Given the description of an element on the screen output the (x, y) to click on. 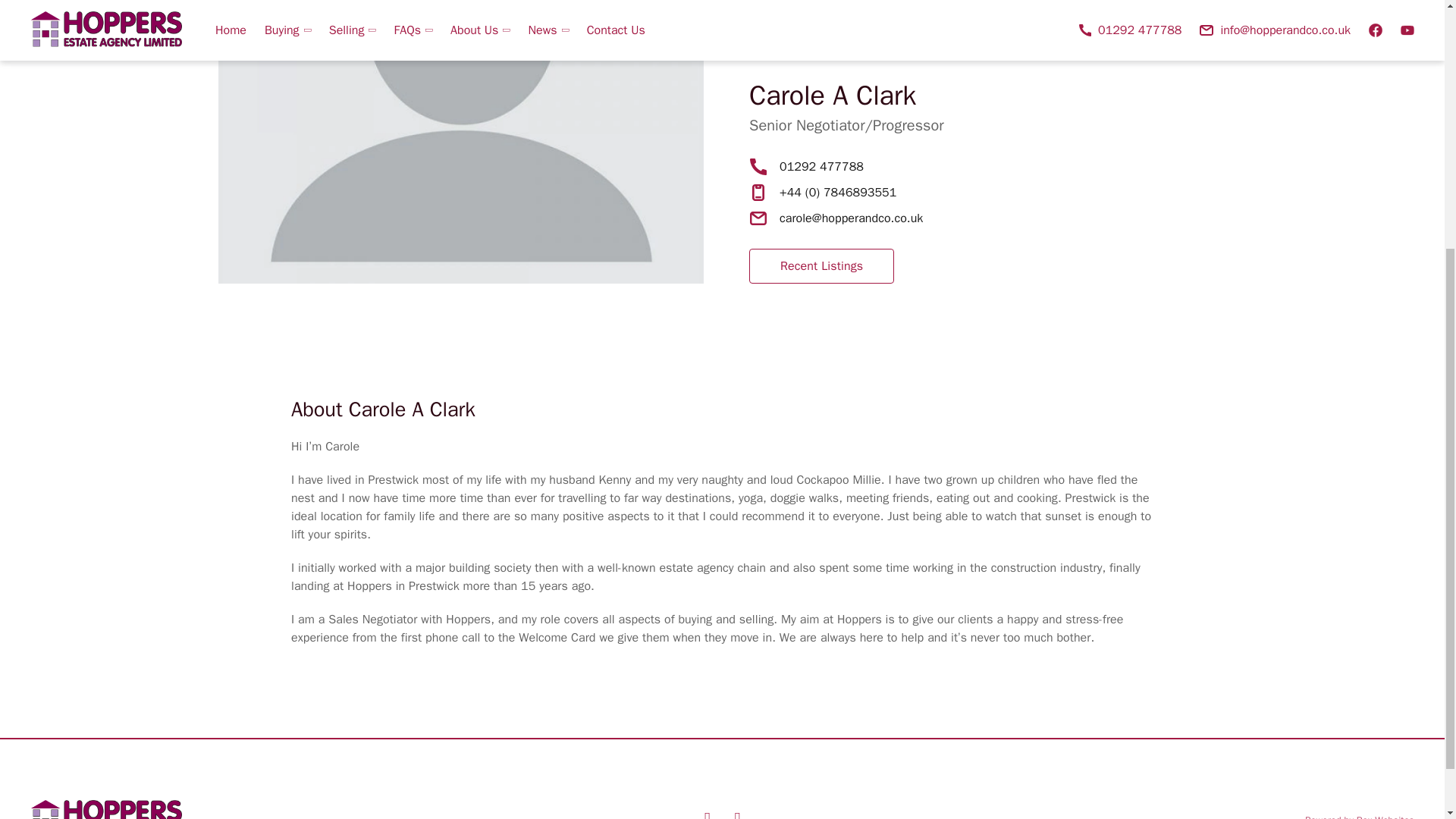
01292 477788 (820, 167)
Recent Listings (821, 265)
Recent Listings (821, 265)
